Given the description of an element on the screen output the (x, y) to click on. 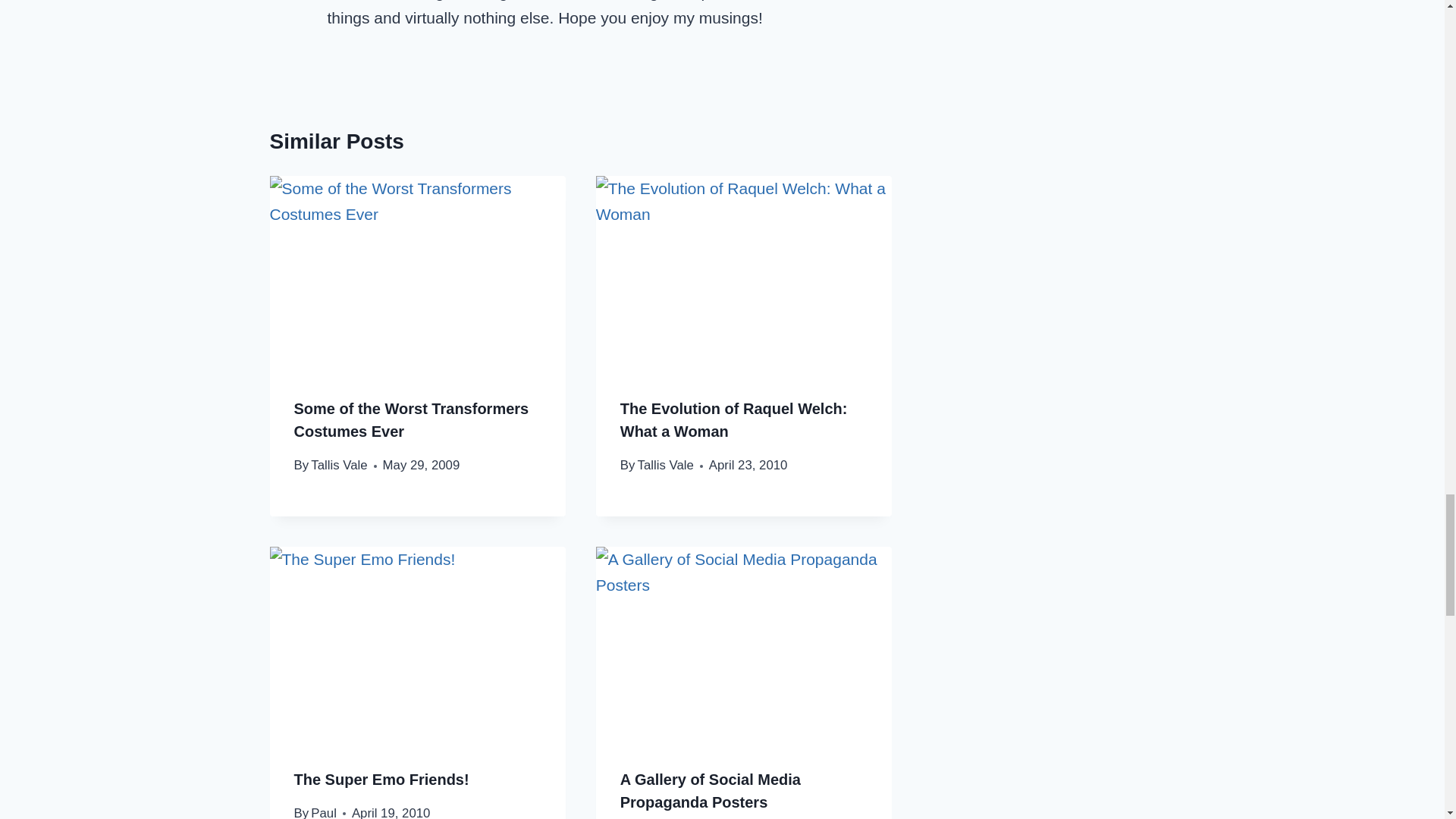
The Super Emo Friends! (381, 779)
A Gallery of Social Media Propaganda Posters (710, 790)
Some of the Worst Transformers Costumes Ever (411, 419)
Tallis Vale (665, 464)
Tallis Vale (338, 464)
The Evolution of Raquel Welch: What a Woman (733, 419)
Paul (323, 812)
